Given the description of an element on the screen output the (x, y) to click on. 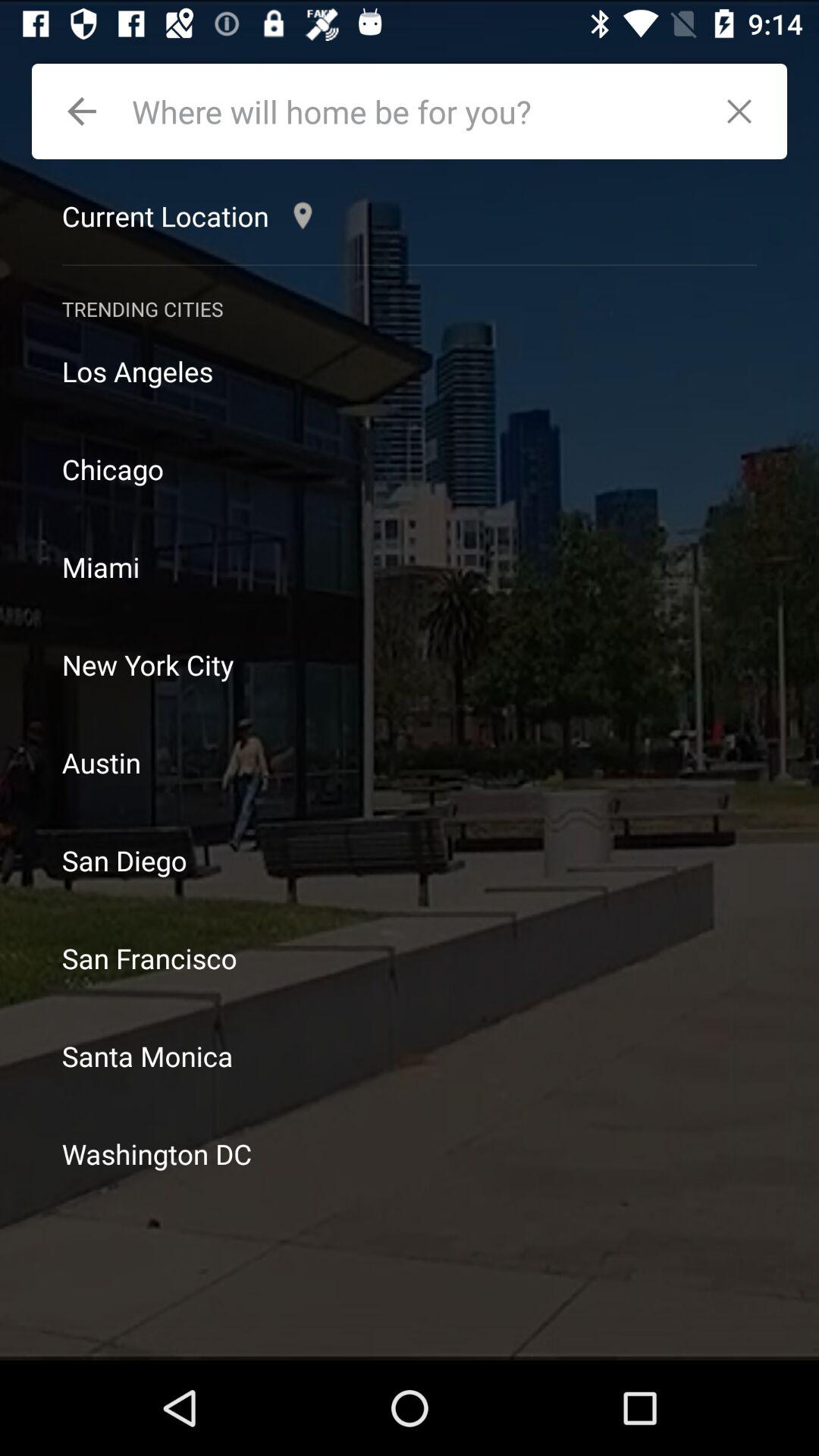
choose item below the santa monica item (409, 1153)
